Given the description of an element on the screen output the (x, y) to click on. 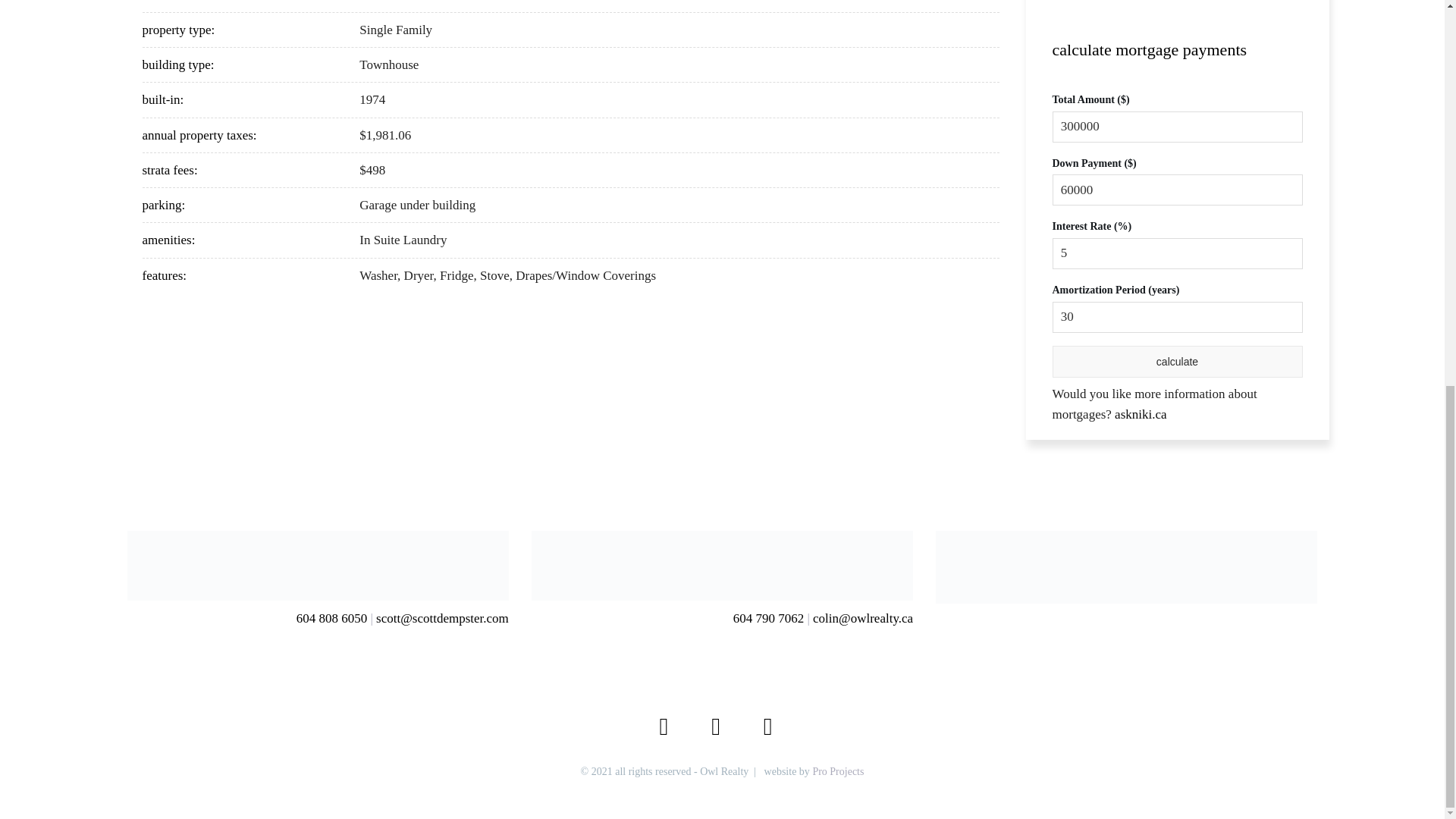
5 (1177, 253)
Calculate (1177, 361)
300000 (1177, 126)
60000 (1177, 189)
30 (1177, 317)
